Given the description of an element on the screen output the (x, y) to click on. 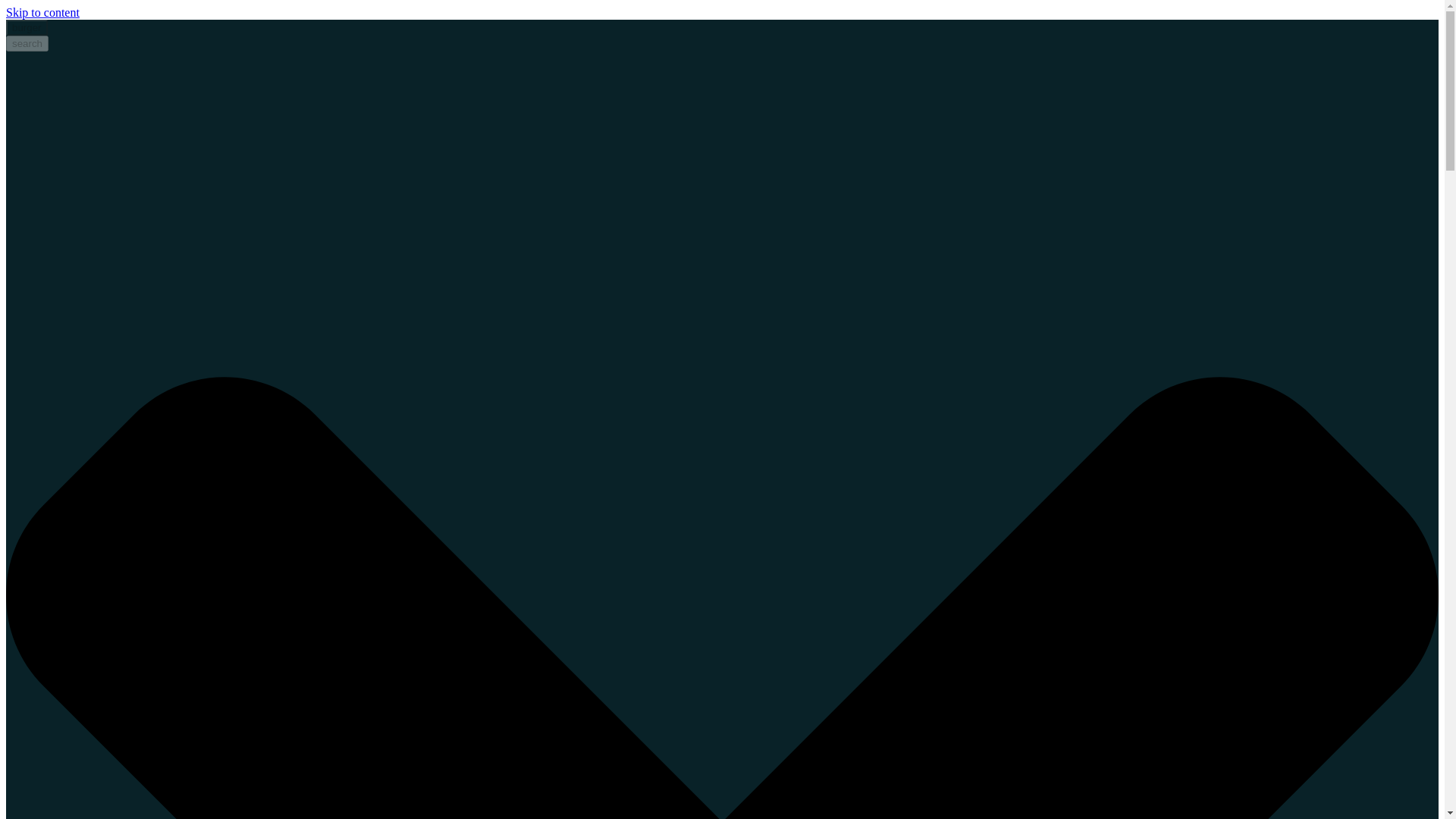
search (26, 43)
burger (26, 27)
Skip to content (42, 11)
